Given the description of an element on the screen output the (x, y) to click on. 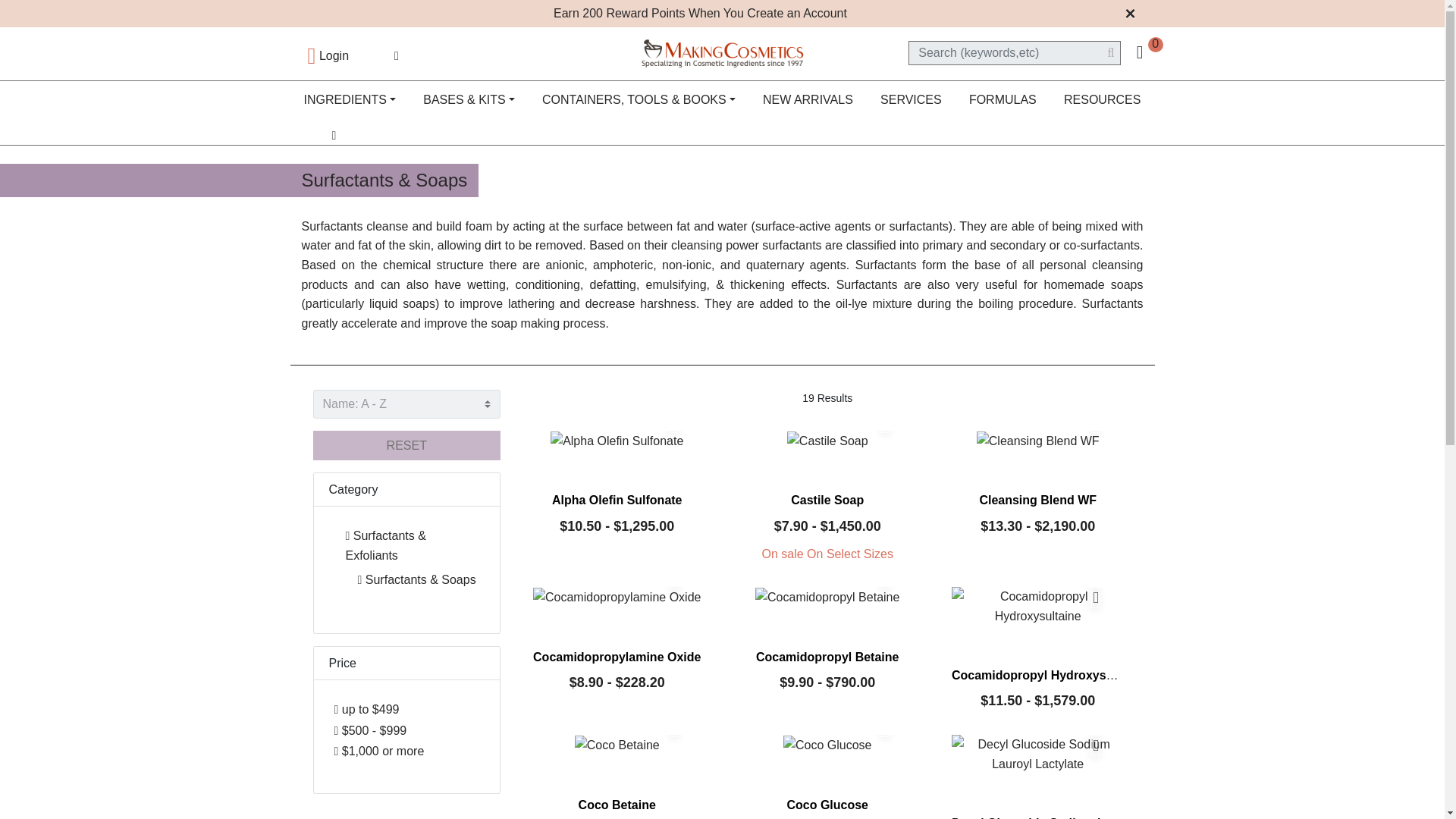
Quick View for Cleansing Blend WF (1096, 422)
Cocamidopropyl Betaine (827, 597)
Quick View for Coco Betaine (675, 726)
Quick View for Coco Glucose (885, 726)
Quick View for Castile Soap (885, 422)
Quick View for Cocamidopropyl Betaine (885, 578)
INGREDIENTS (350, 100)
Castile Soap (827, 441)
Alpha Olefin Sulfonate (616, 441)
Login (328, 55)
Cleansing Blend WF (1037, 441)
Coco Betaine (617, 745)
Coco Glucose (827, 745)
MakingCosmetics Inc. Home (722, 51)
Quick View for Alpha Olefin Sulfonate (675, 422)
